Given the description of an element on the screen output the (x, y) to click on. 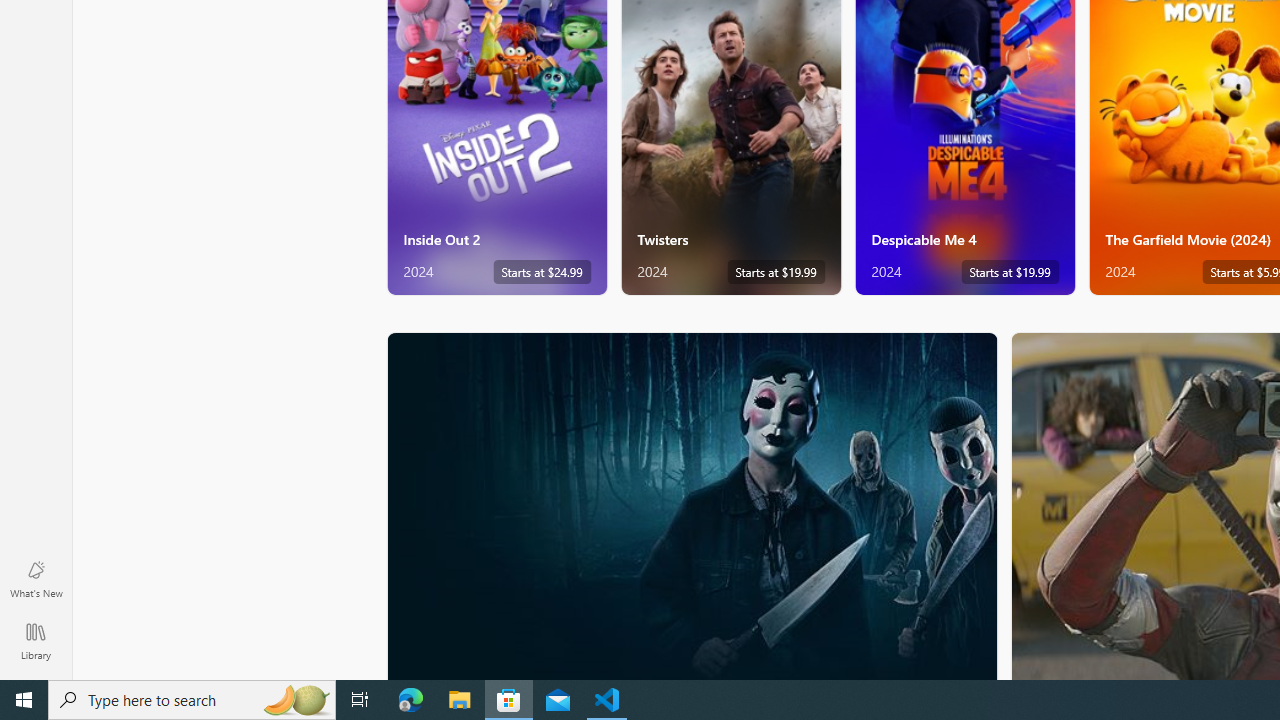
AutomationID: PosterImage (690, 505)
What's New (35, 578)
Horror (692, 505)
Library (35, 640)
